Given the description of an element on the screen output the (x, y) to click on. 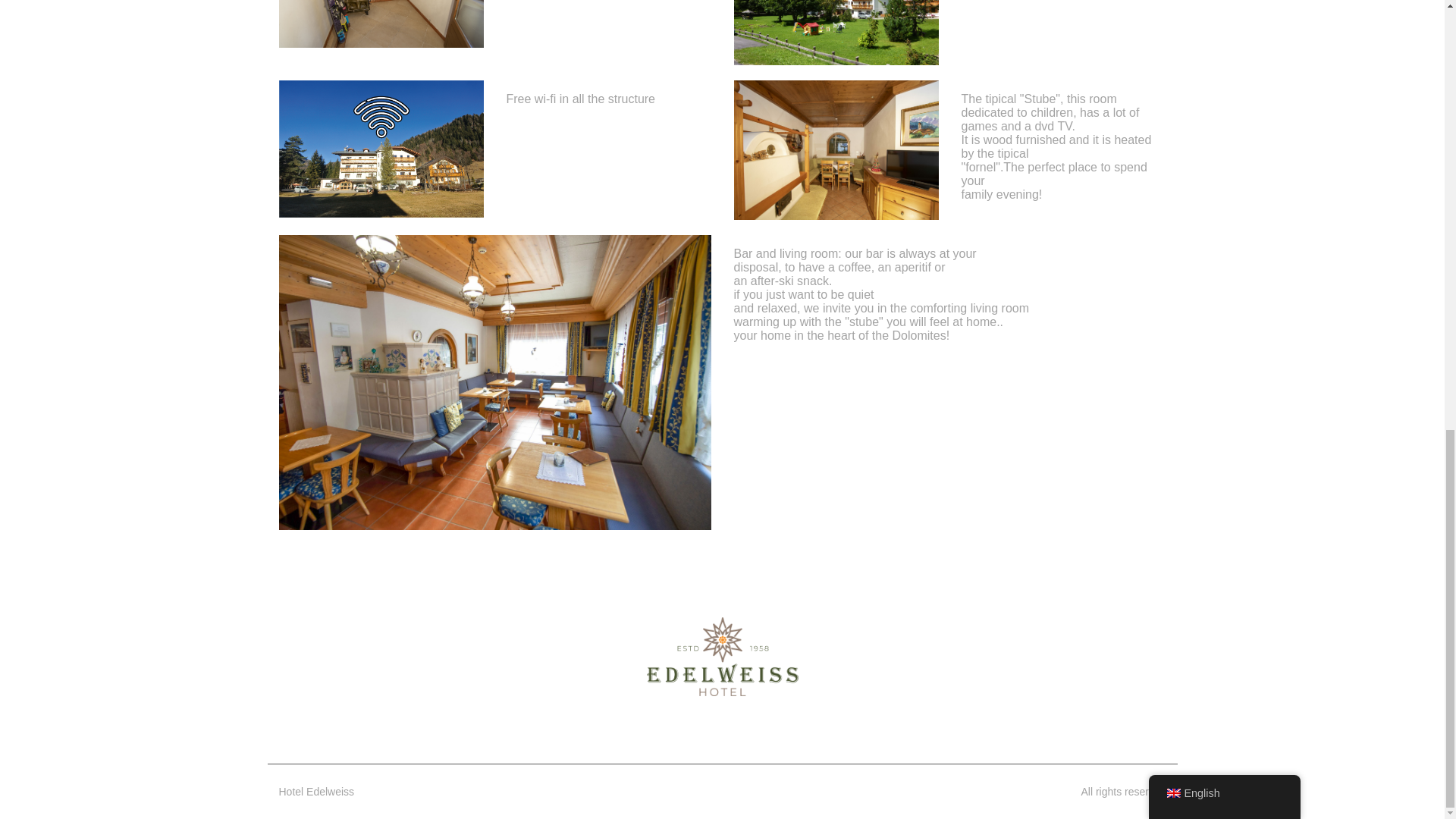
saletta stube (495, 382)
saletta stube (836, 150)
skiroom (381, 23)
P1000597 (836, 32)
wifi foto0 (381, 148)
